Given the description of an element on the screen output the (x, y) to click on. 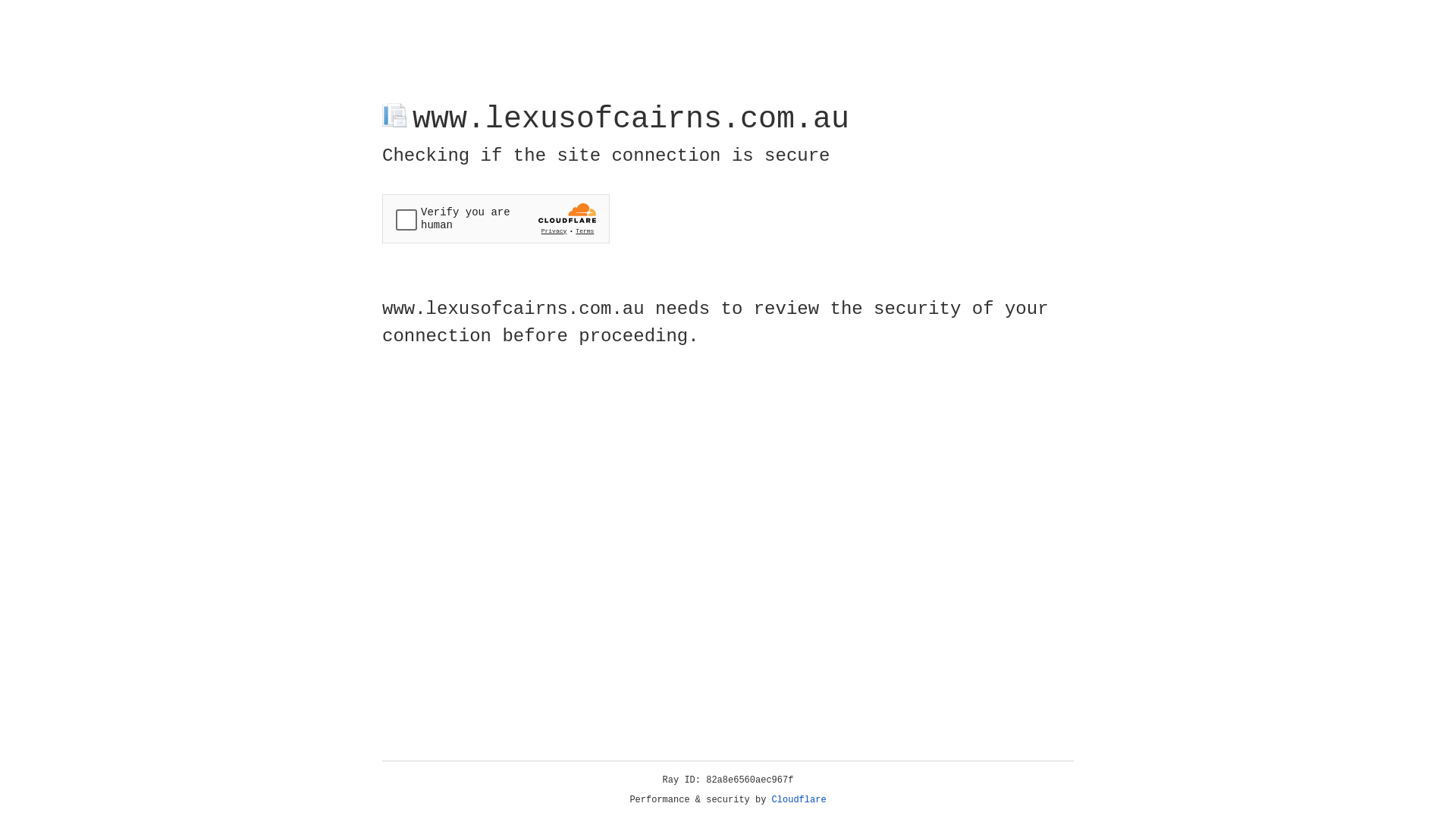
Widget containing a Cloudflare security challenge Element type: hover (495, 218)
Cloudflare Element type: text (798, 799)
